Given the description of an element on the screen output the (x, y) to click on. 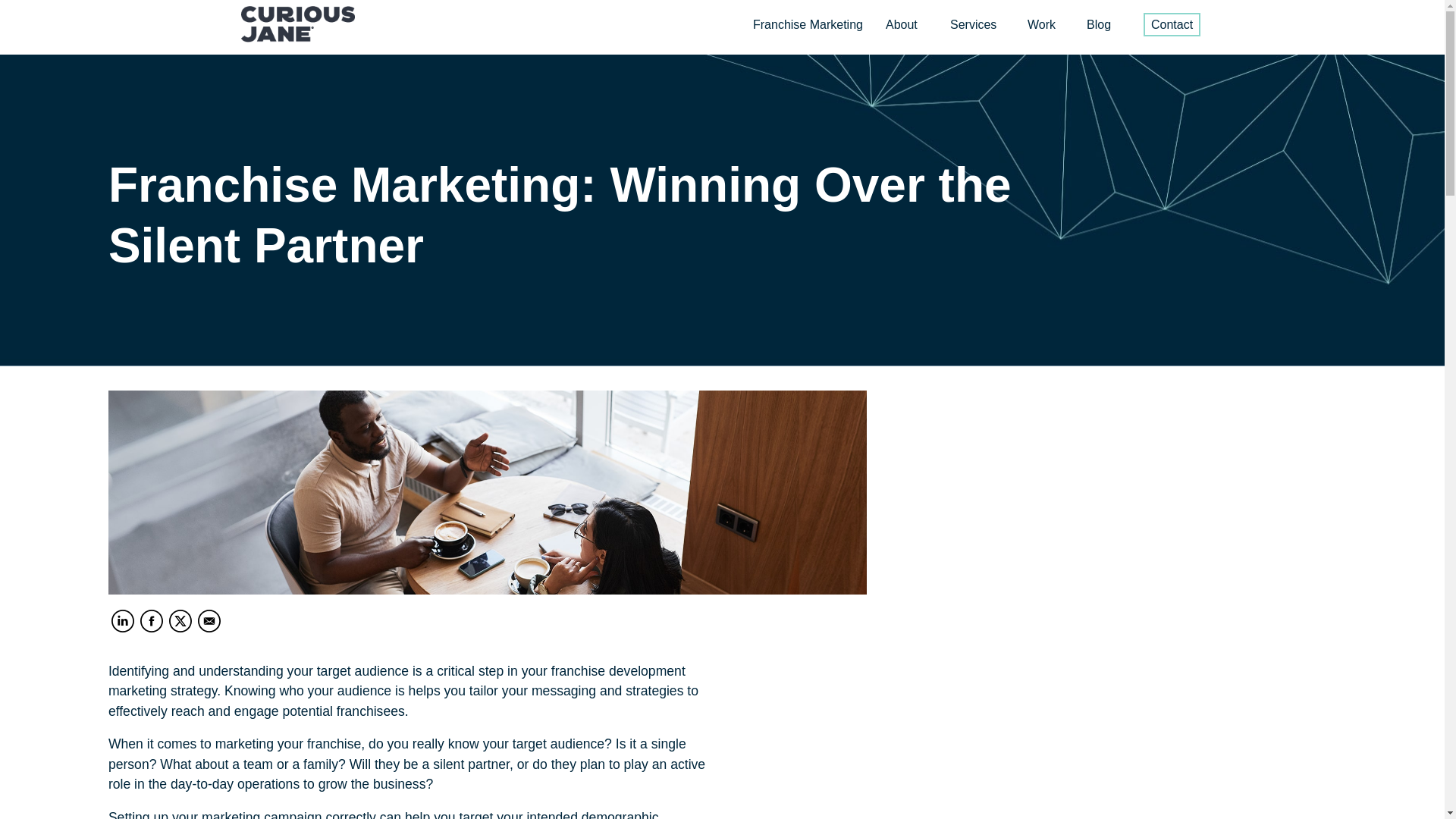
Franchise Marketing (807, 24)
Work (1041, 24)
Blog (1098, 24)
Services (972, 24)
About (901, 24)
Contact (1170, 24)
